Given the description of an element on the screen output the (x, y) to click on. 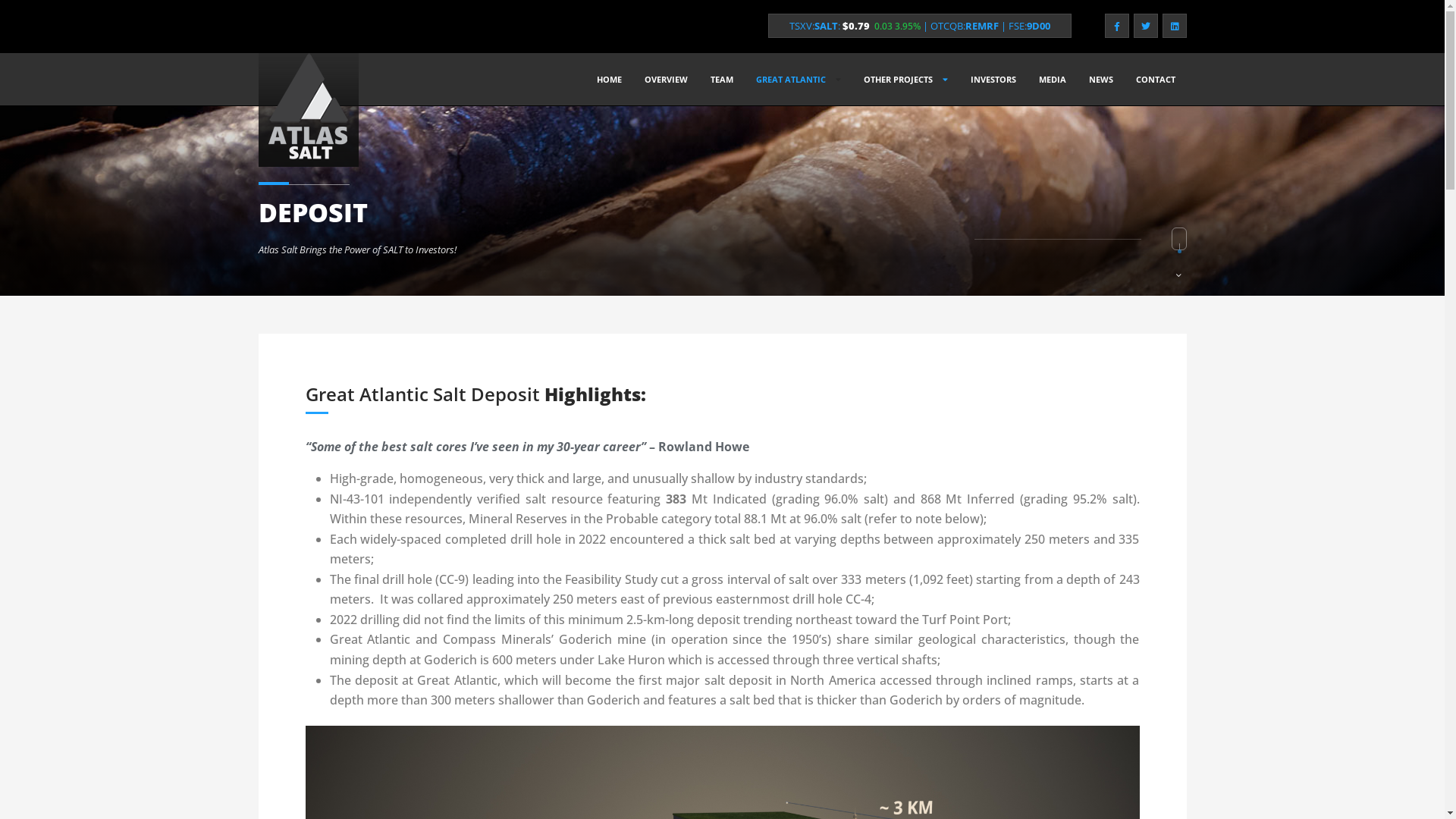
linkedin Element type: hover (1173, 25)
DOWNLOAD CORPORATE PRESENTATION (PDF) Element type: text (1012, 704)
GREAT ATLANTIC Element type: text (798, 79)
TSXV:SALT: $0.79  0.03 3.95% | OTCQB:REMRF | FSE:9D00 Element type: text (918, 25)
TEAM Element type: text (721, 79)
MEDIA Element type: text (1051, 79)
NEWS Element type: text (1099, 79)
facebook Element type: hover (1116, 25)
Atlas Unveils Great Atlantic Salt Project Build Team Element type: text (864, 543)
OVERVIEW Element type: text (665, 79)
INVESTORS Element type: text (992, 79)
DISCLAIMER & QUALIFIED PERSON Element type: text (819, 784)
twitter Element type: hover (1144, 25)
HOME Element type: text (609, 79)
OTHER PROJECTS Element type: text (905, 79)
CONTACT Element type: text (1154, 79)
